Given the description of an element on the screen output the (x, y) to click on. 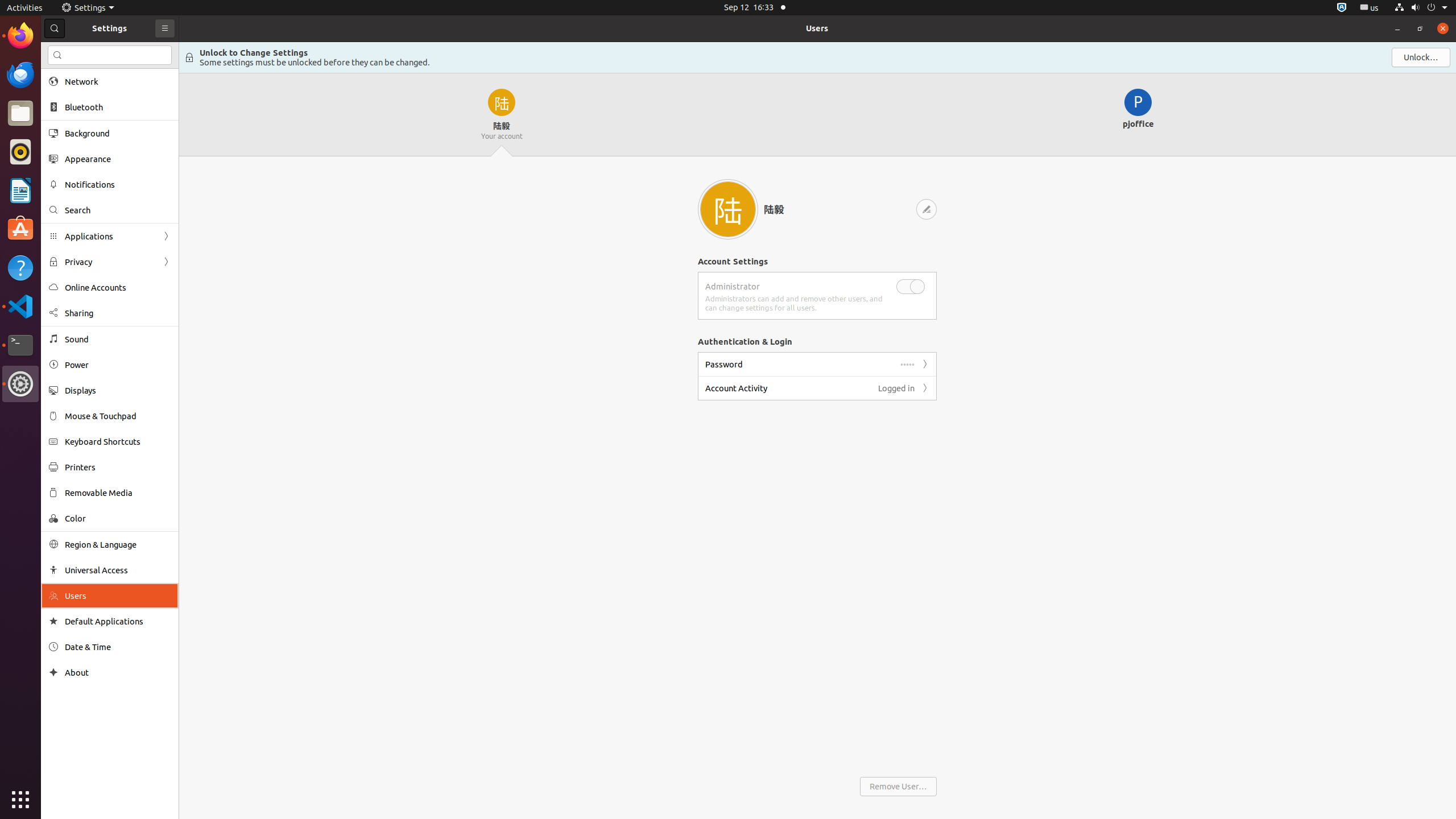
Administrator Element type: label (732, 286)
Search Element type: label (117, 209)
Account Settings Element type: label (732, 261)
Bluetooth Element type: label (117, 107)
